Given the description of an element on the screen output the (x, y) to click on. 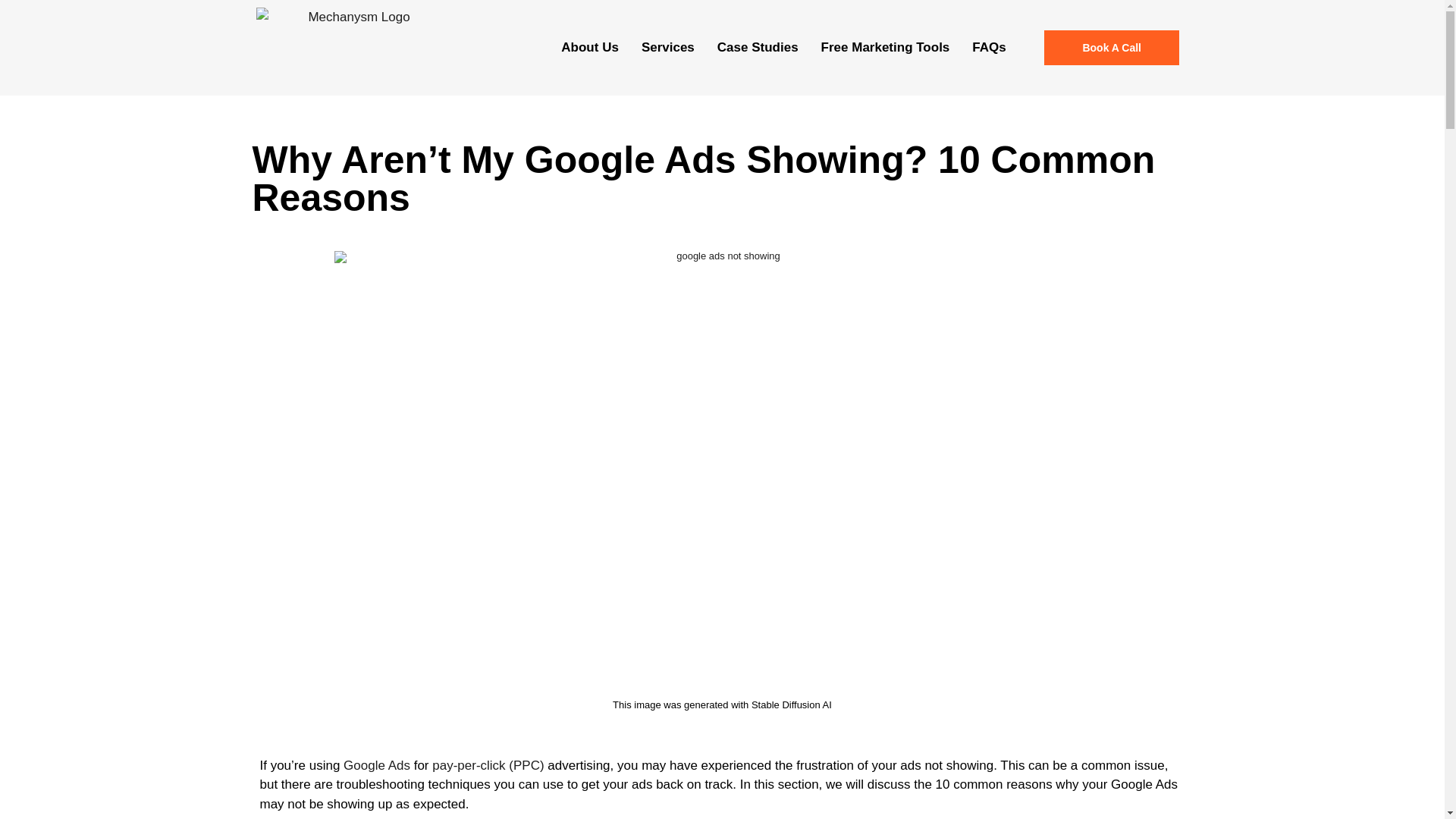
FAQs (988, 47)
About Us (590, 47)
Services (668, 47)
Book A Call (1111, 47)
Free Marketing Tools (884, 47)
Case Studies (757, 47)
